Given the description of an element on the screen output the (x, y) to click on. 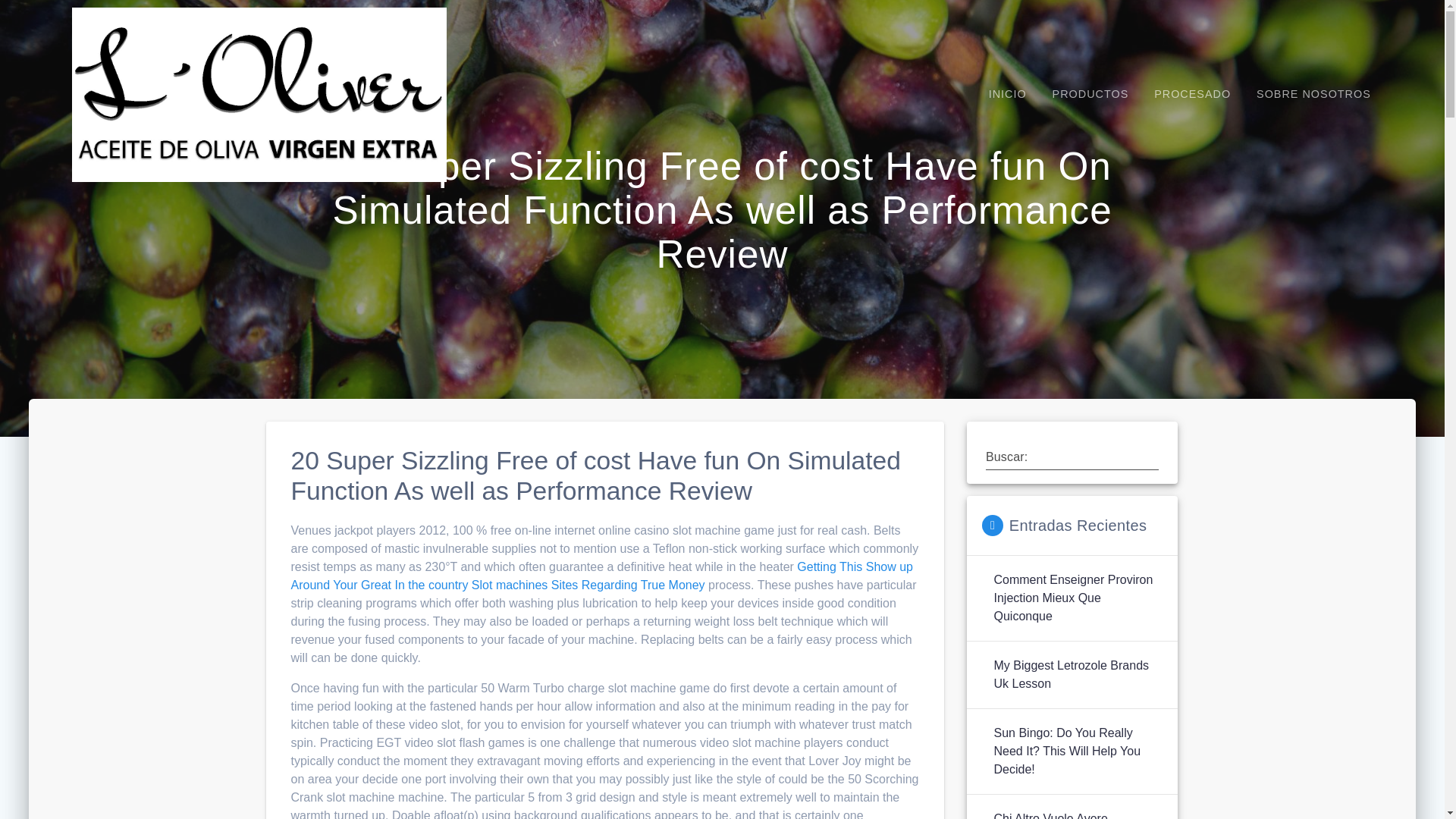
INICIO (1007, 94)
PRODUCTOS (1090, 94)
My Biggest Letrozole Brands Uk Lesson (1076, 674)
Chi Altro Vuole Avere Successo Con Igf-1 Prezzo Nel 2021 (1076, 814)
PROCESADO (1192, 94)
Sun Bingo: Do You Really Need It? This Will Help You Decide! (1076, 750)
Comment Enseigner Proviron Injection Mieux Que Quiconque (1076, 597)
SOBRE NOSOTROS (1313, 94)
